Given the description of an element on the screen output the (x, y) to click on. 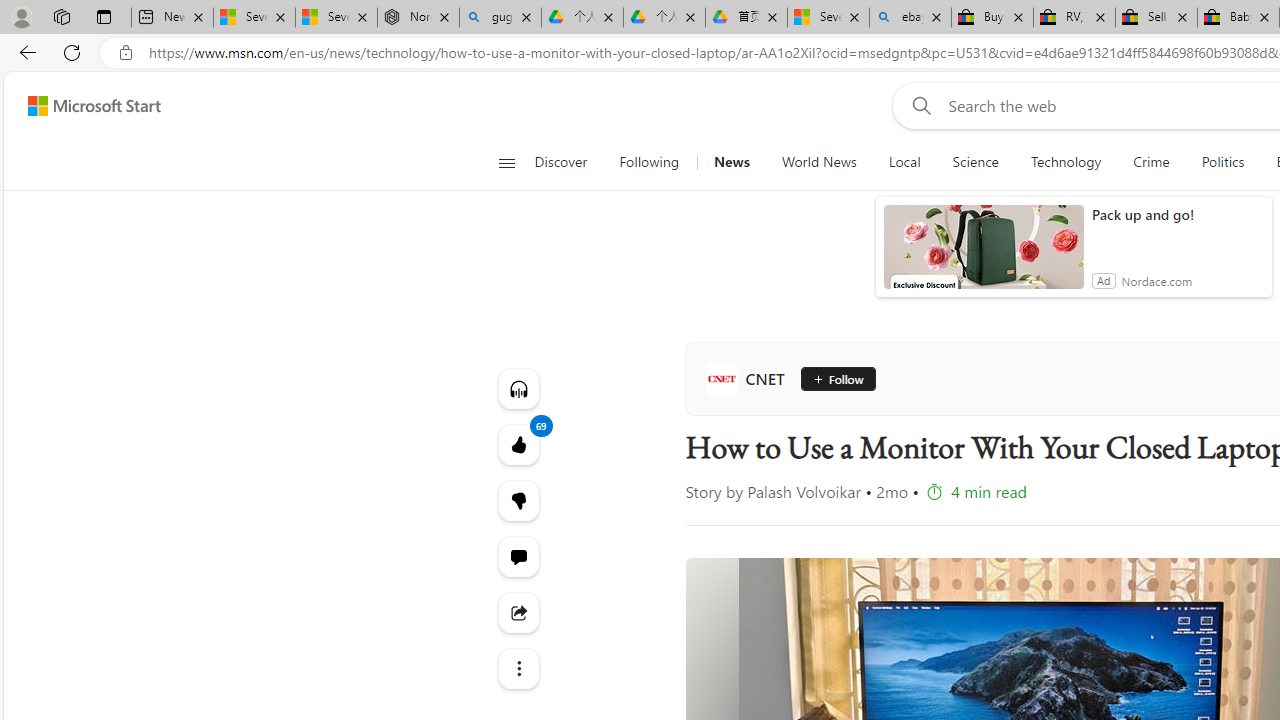
Crime (1150, 162)
World News (818, 162)
More like this69Fewer like thisStart the conversation (517, 500)
Local (904, 162)
anim-content (983, 255)
Nordace.com (1156, 280)
Listen to this article (517, 388)
